Given the description of an element on the screen output the (x, y) to click on. 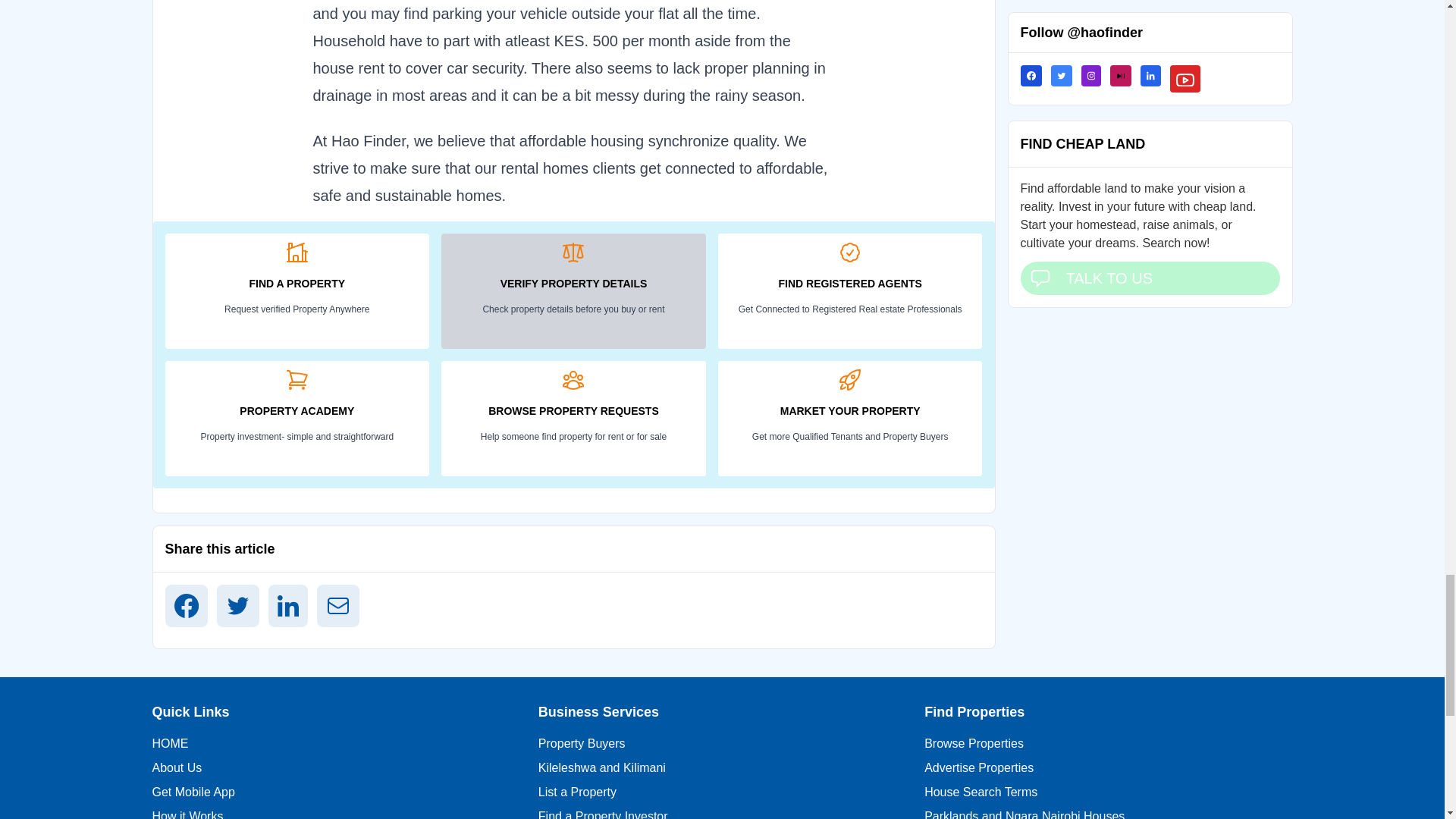
Get Mobile App (192, 791)
How it Works (186, 814)
About Us (176, 767)
HOME (169, 743)
